Given the description of an element on the screen output the (x, y) to click on. 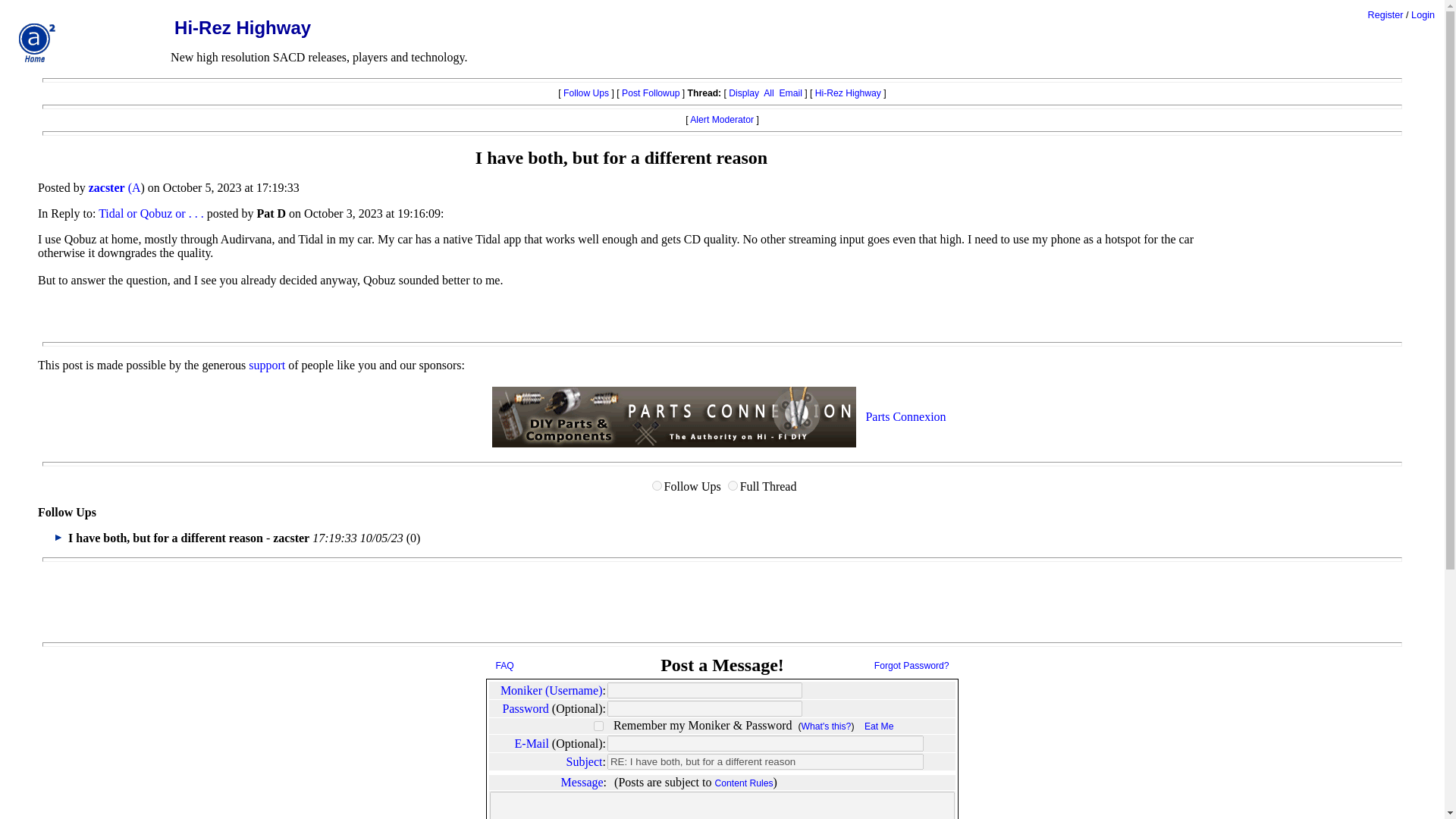
support (266, 364)
Post Followup (650, 92)
Login (1422, 14)
E-Mail (531, 743)
responses (657, 485)
full (733, 485)
Advertisement (1339, 244)
Hi-Rez Highway (847, 92)
Eat Me (878, 726)
Alert Moderator (722, 119)
